Given the description of an element on the screen output the (x, y) to click on. 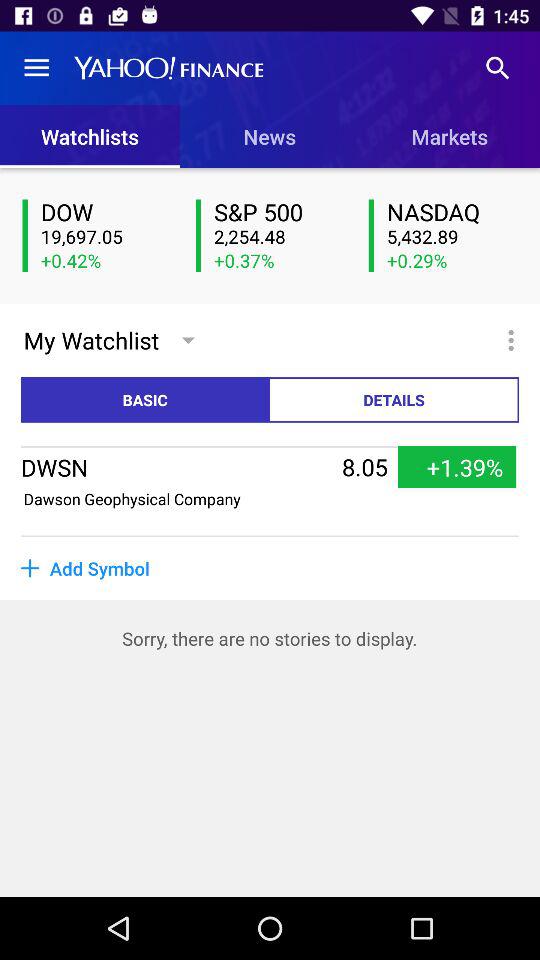
choose the my watchlist (91, 340)
